Given the description of an element on the screen output the (x, y) to click on. 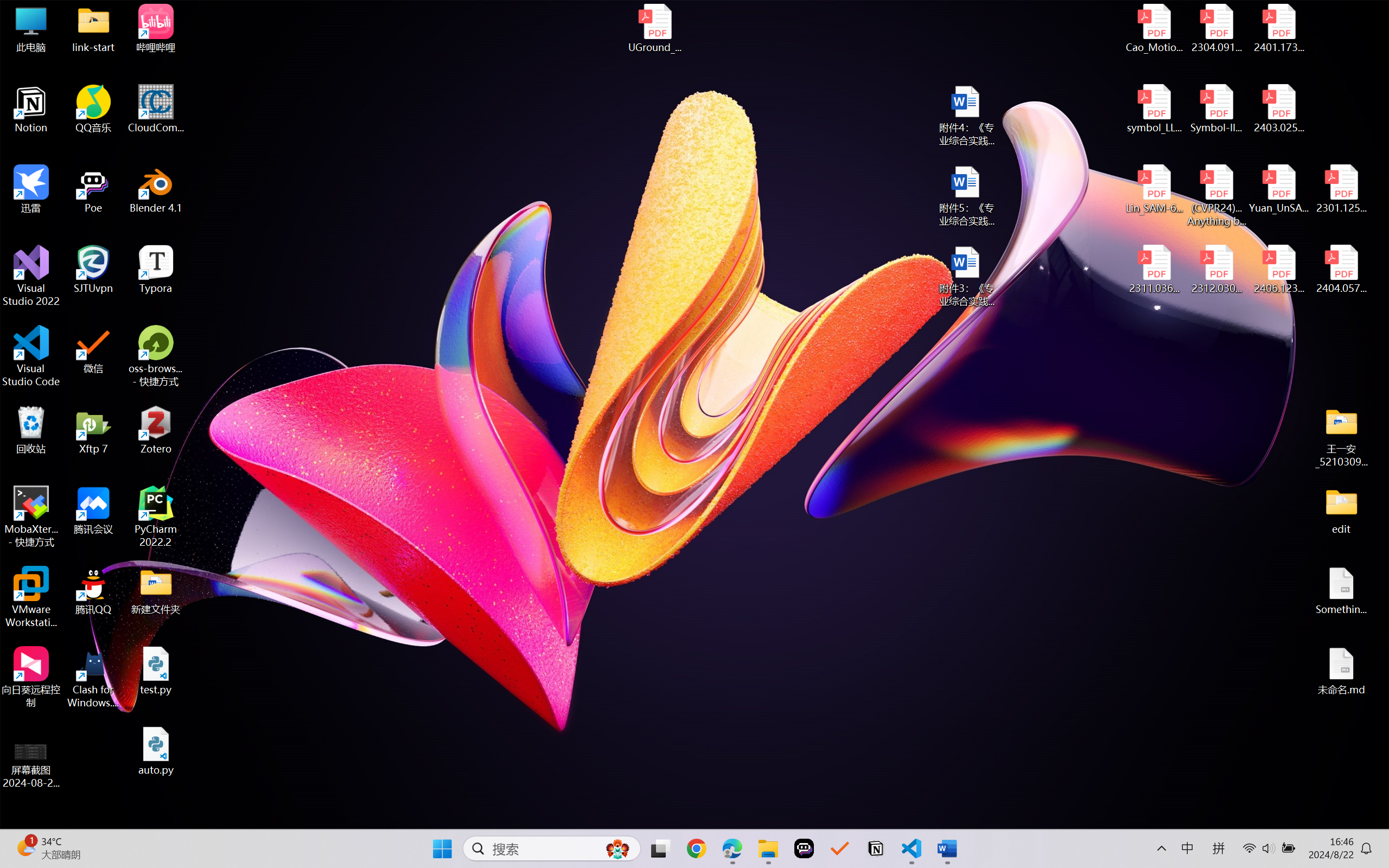
CloudCompare (156, 109)
2312.03032v2.pdf (1216, 269)
2301.12597v3.pdf (1340, 189)
2404.05719v1.pdf (1340, 269)
2311.03658v2.pdf (1154, 269)
Blender 4.1 (156, 189)
